Given the description of an element on the screen output the (x, y) to click on. 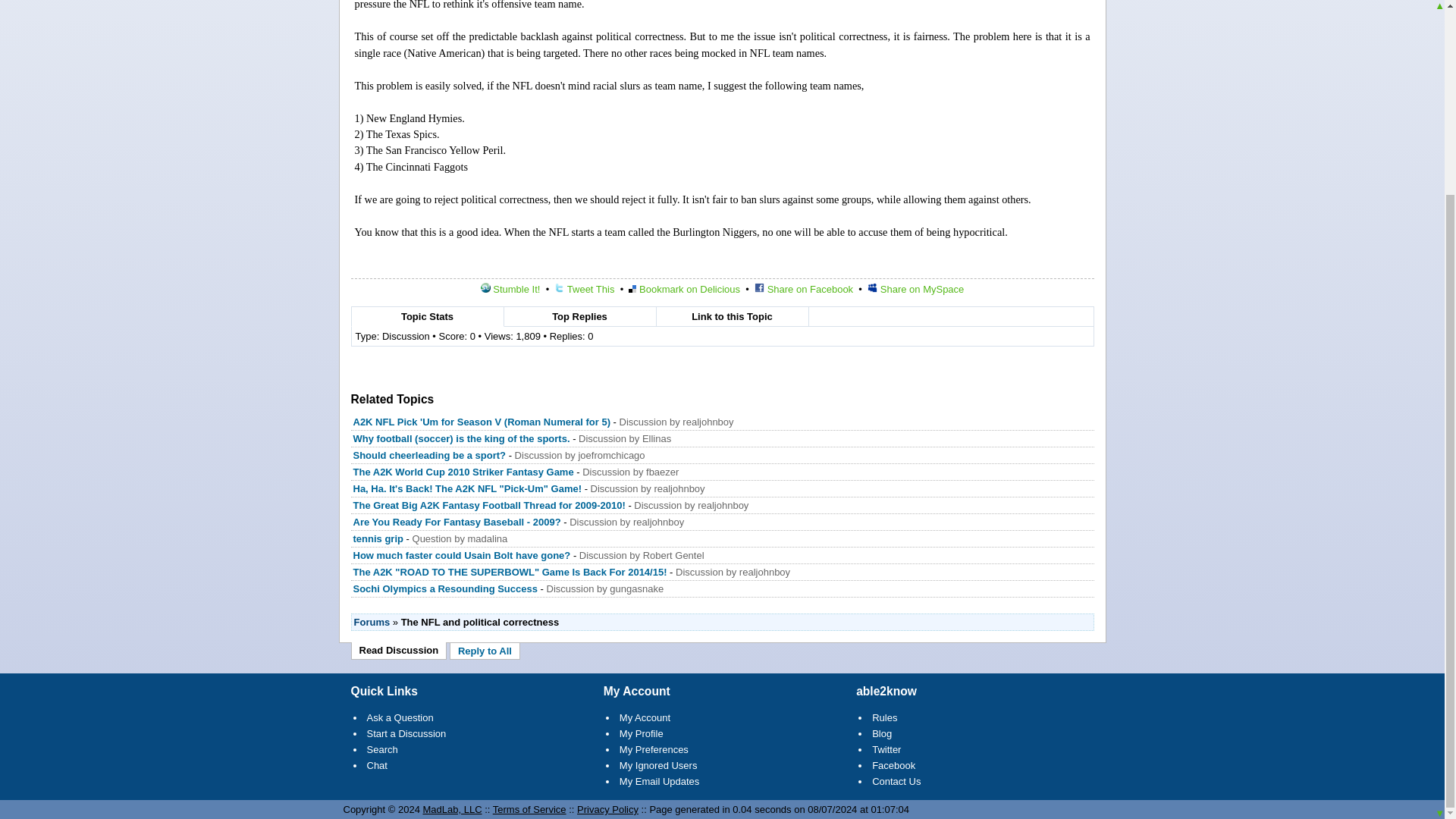
tennis grip (378, 538)
Bookmark on Delicious (683, 288)
Forums (371, 622)
Sochi Olympics a Resounding Success (445, 588)
Reply to All (484, 651)
Share on MySpace (915, 288)
Share on Facebook (803, 288)
Search (381, 749)
Reply to All (484, 651)
Ask a Question (399, 717)
